Given the description of an element on the screen output the (x, y) to click on. 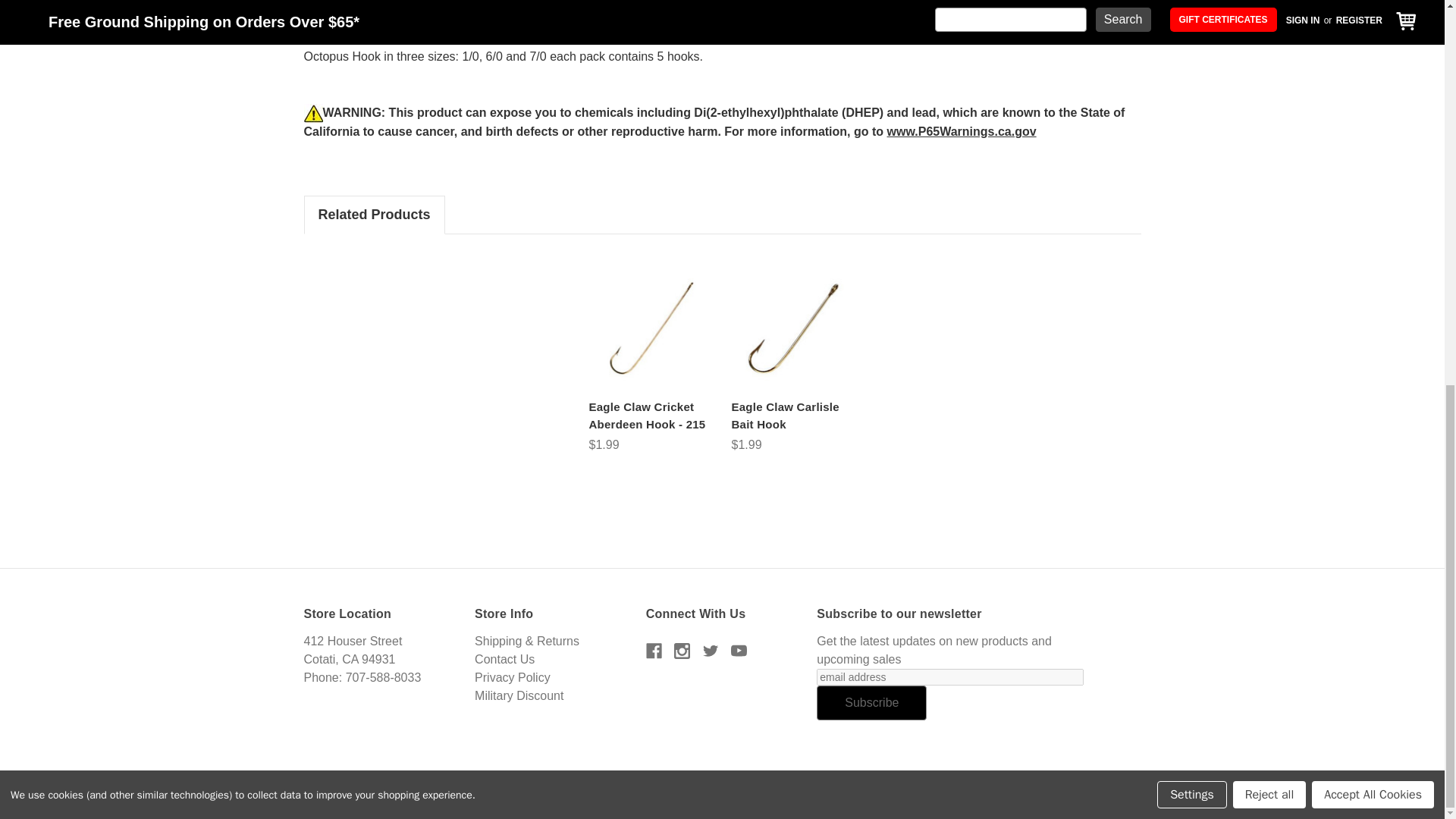
facebook (654, 650)
Eagle Claw Cricket Aberdeen Hook - 215 (651, 326)
Eagle Claw Carlisle Bait Hook (793, 326)
youtube (738, 650)
Subscribe (871, 702)
instagram (682, 650)
twitter (711, 650)
